Given the description of an element on the screen output the (x, y) to click on. 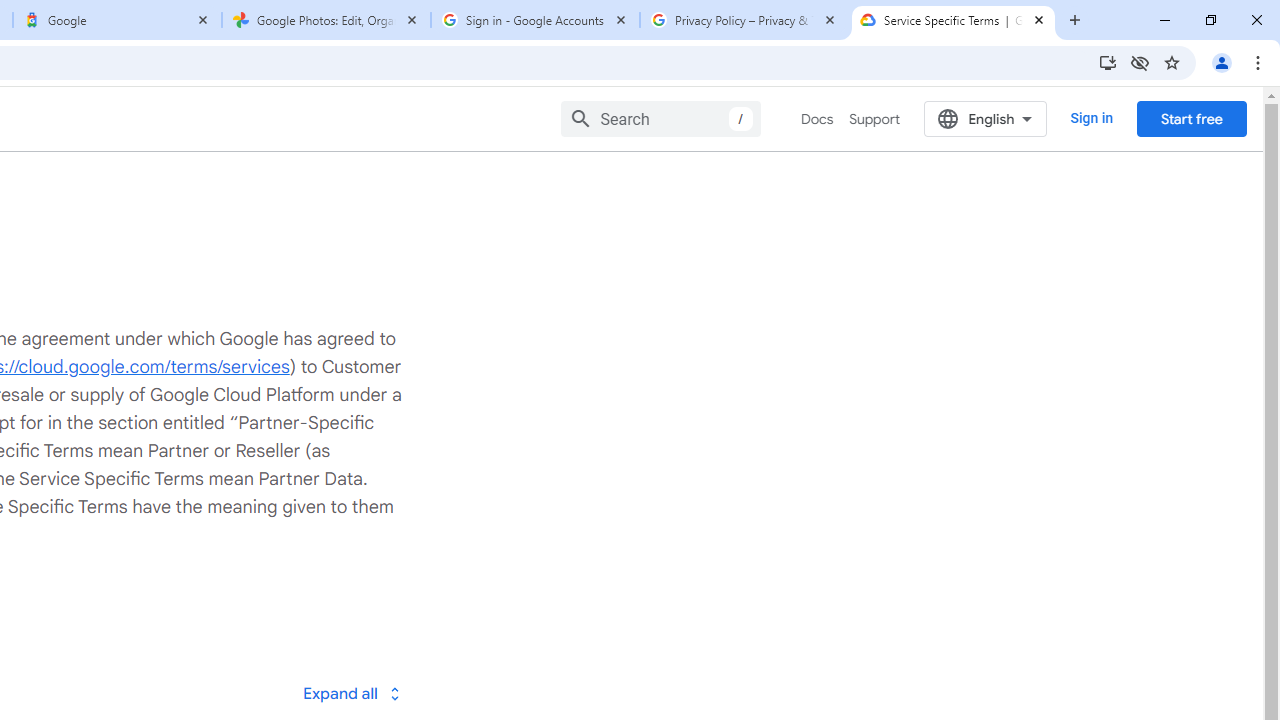
English (985, 118)
Install Google Cloud (1107, 62)
Docs (817, 119)
Support (874, 119)
Google (116, 20)
